Given the description of an element on the screen output the (x, y) to click on. 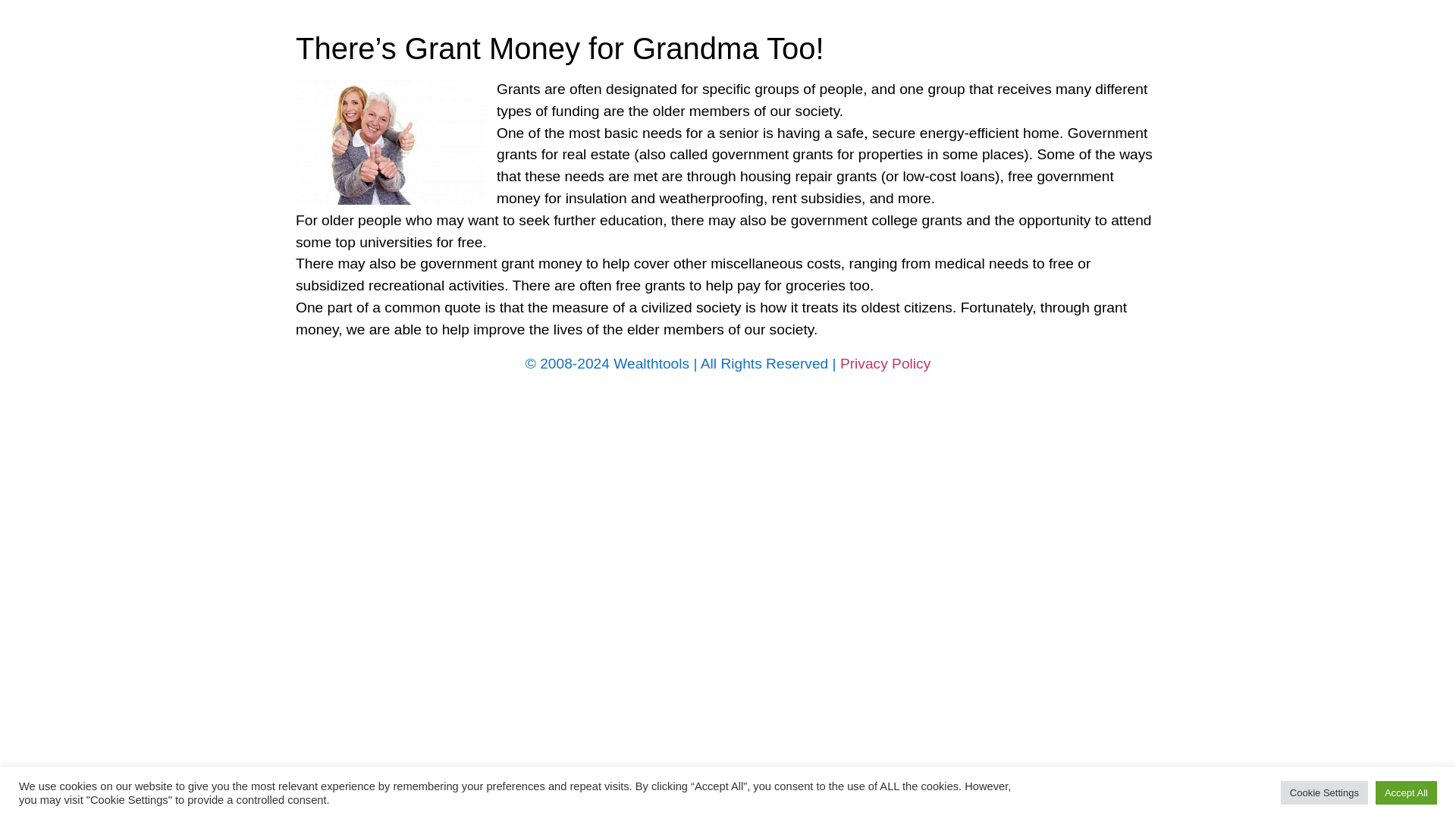
Privacy Policy (885, 363)
There's Grant Money for Grandma Too! (389, 141)
